Given the description of an element on the screen output the (x, y) to click on. 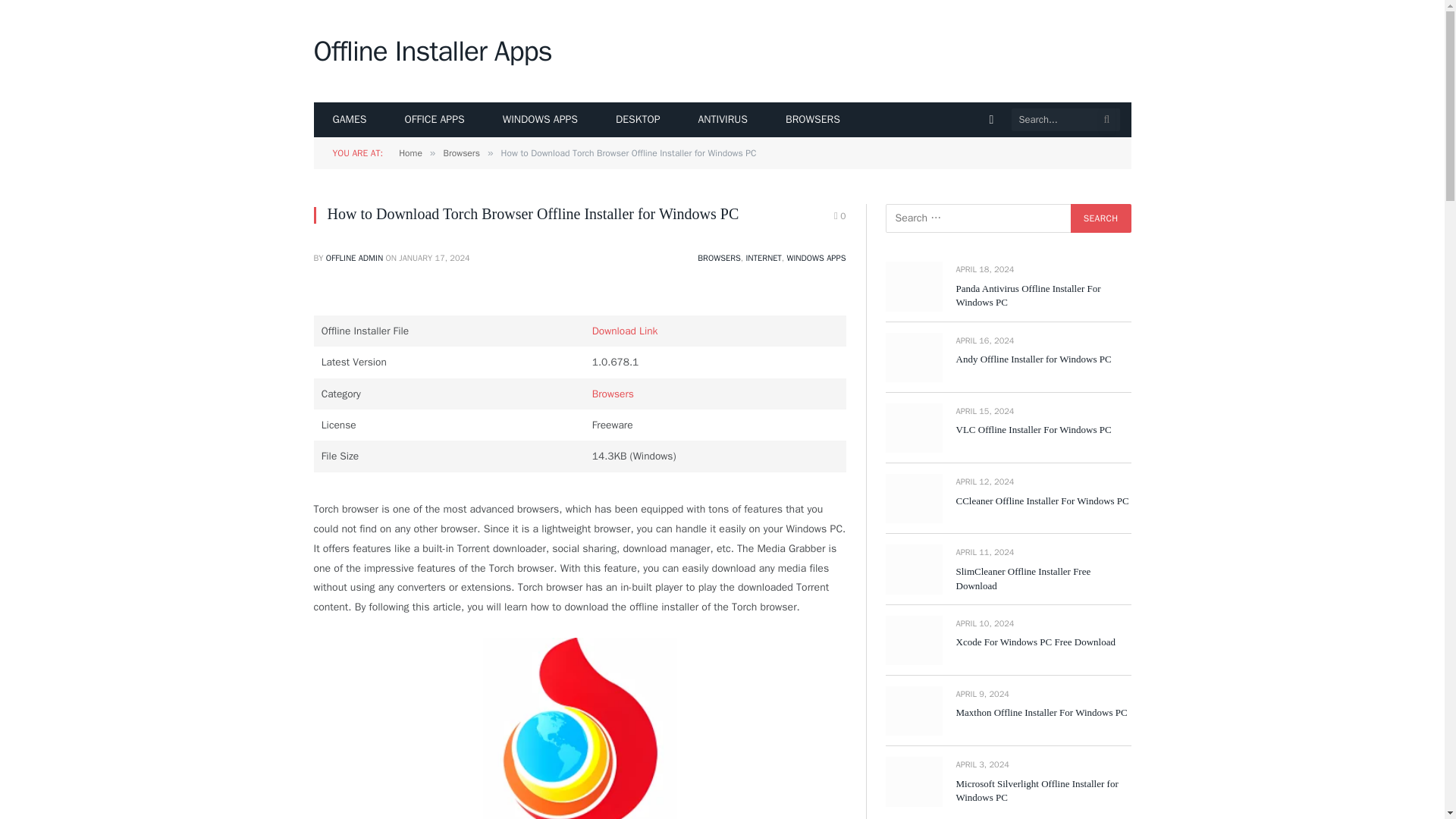
Search (1100, 217)
Offline Installer Apps (432, 51)
OFFICE APPS (434, 119)
2024-01-17 (433, 257)
ANTIVIRUS (723, 119)
Offline Installer Apps (432, 51)
WINDOWS APPS (815, 257)
Browsers (460, 152)
Browsers (612, 393)
GAMES (349, 119)
